Given the description of an element on the screen output the (x, y) to click on. 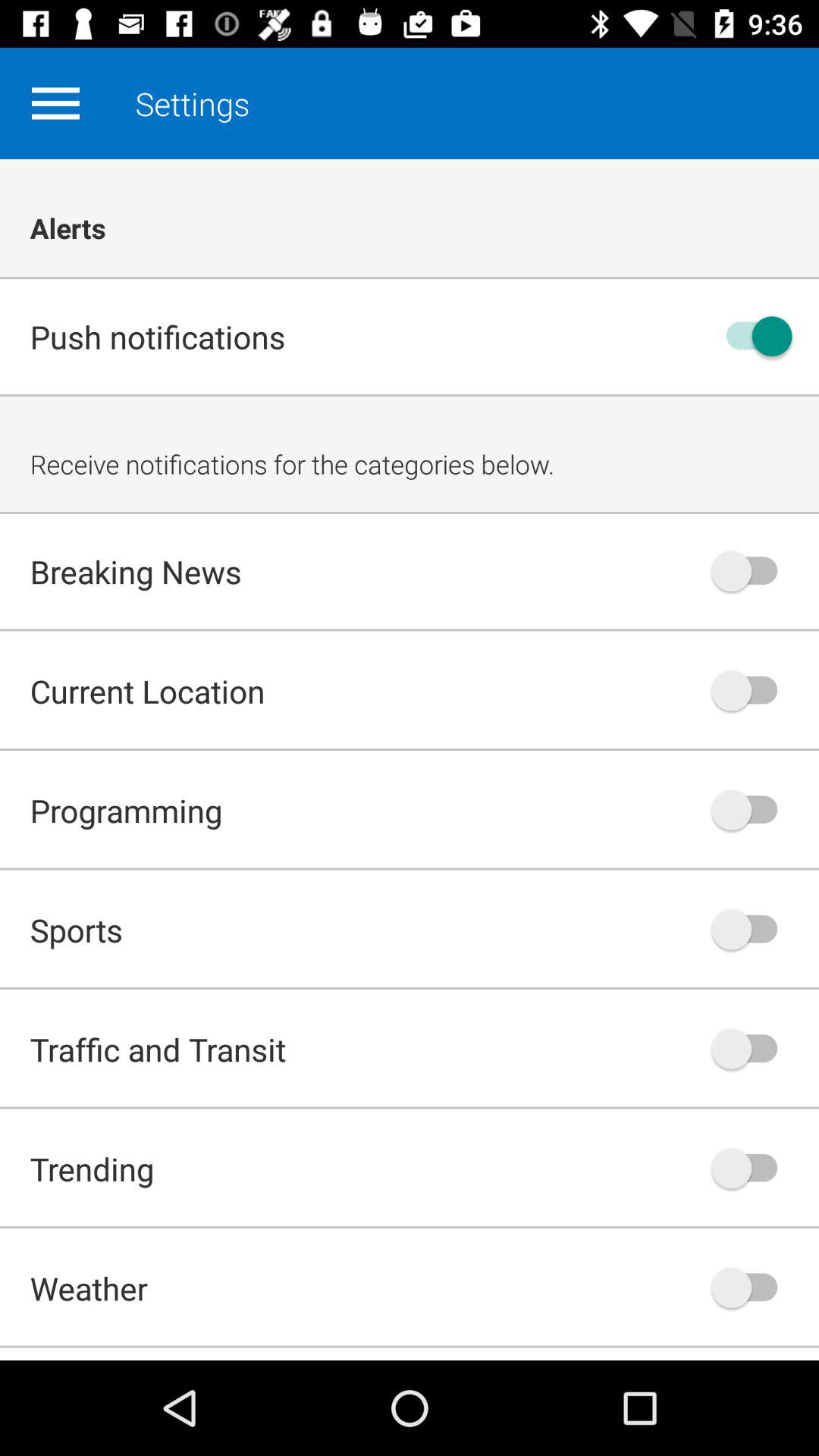
enable notification (751, 1168)
